Given the description of an element on the screen output the (x, y) to click on. 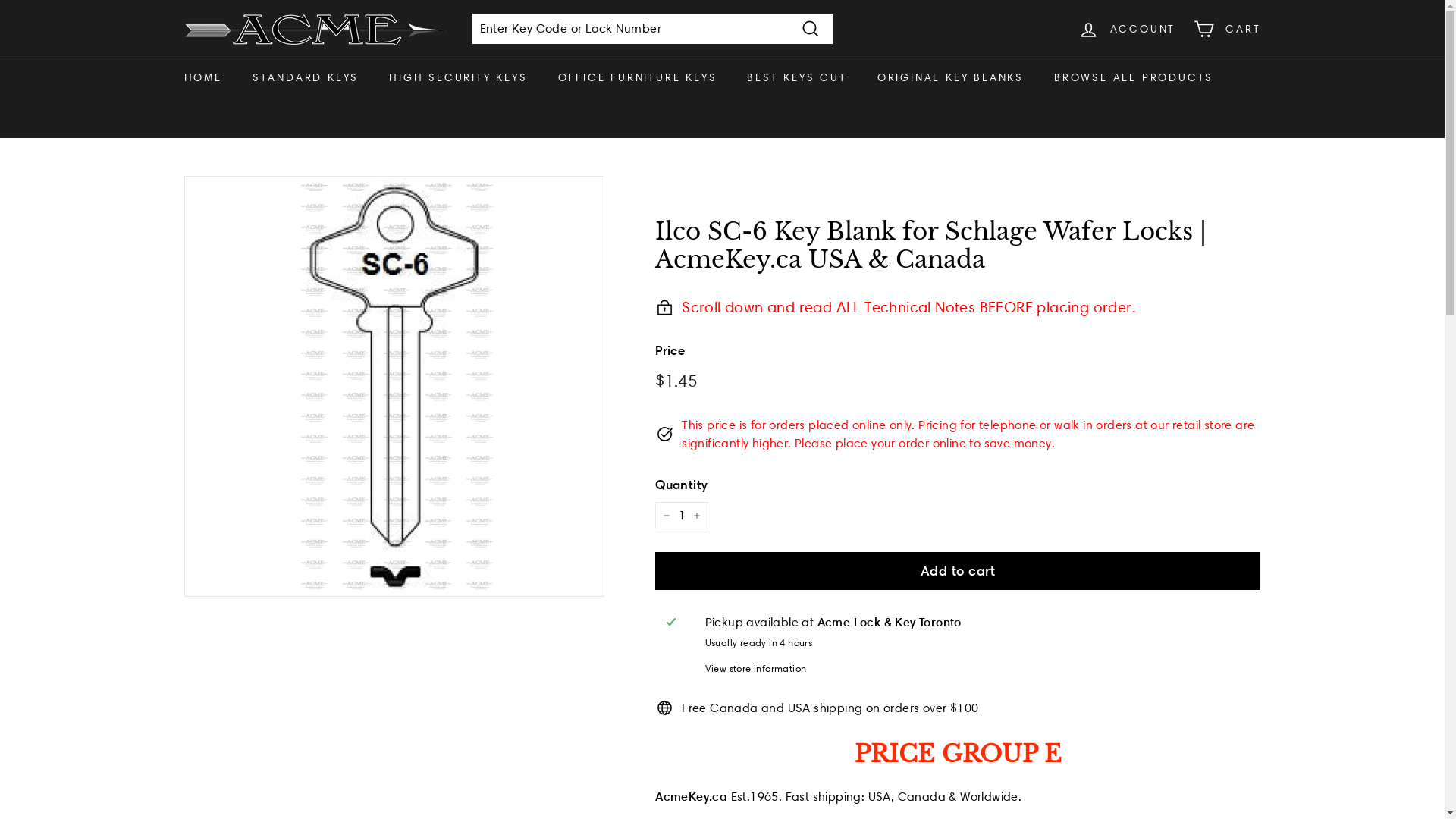
Add to cart Element type: text (957, 570)
HOME Element type: text (202, 77)
ORIGINAL KEY BLANKS Element type: text (950, 77)
BEST KEYS CUT Element type: text (796, 77)
Skip to content Element type: text (0, 0)
+ Element type: text (696, 515)
HIGH SECURITY KEYS Element type: text (457, 77)
STANDARD KEYS Element type: text (305, 77)
View store information Element type: text (977, 668)
ACCOUNT Element type: text (1127, 28)
OFFICE FURNITURE KEYS Element type: text (637, 77)
BROWSE ALL PRODUCTS Element type: text (1133, 77)
